Given the description of an element on the screen output the (x, y) to click on. 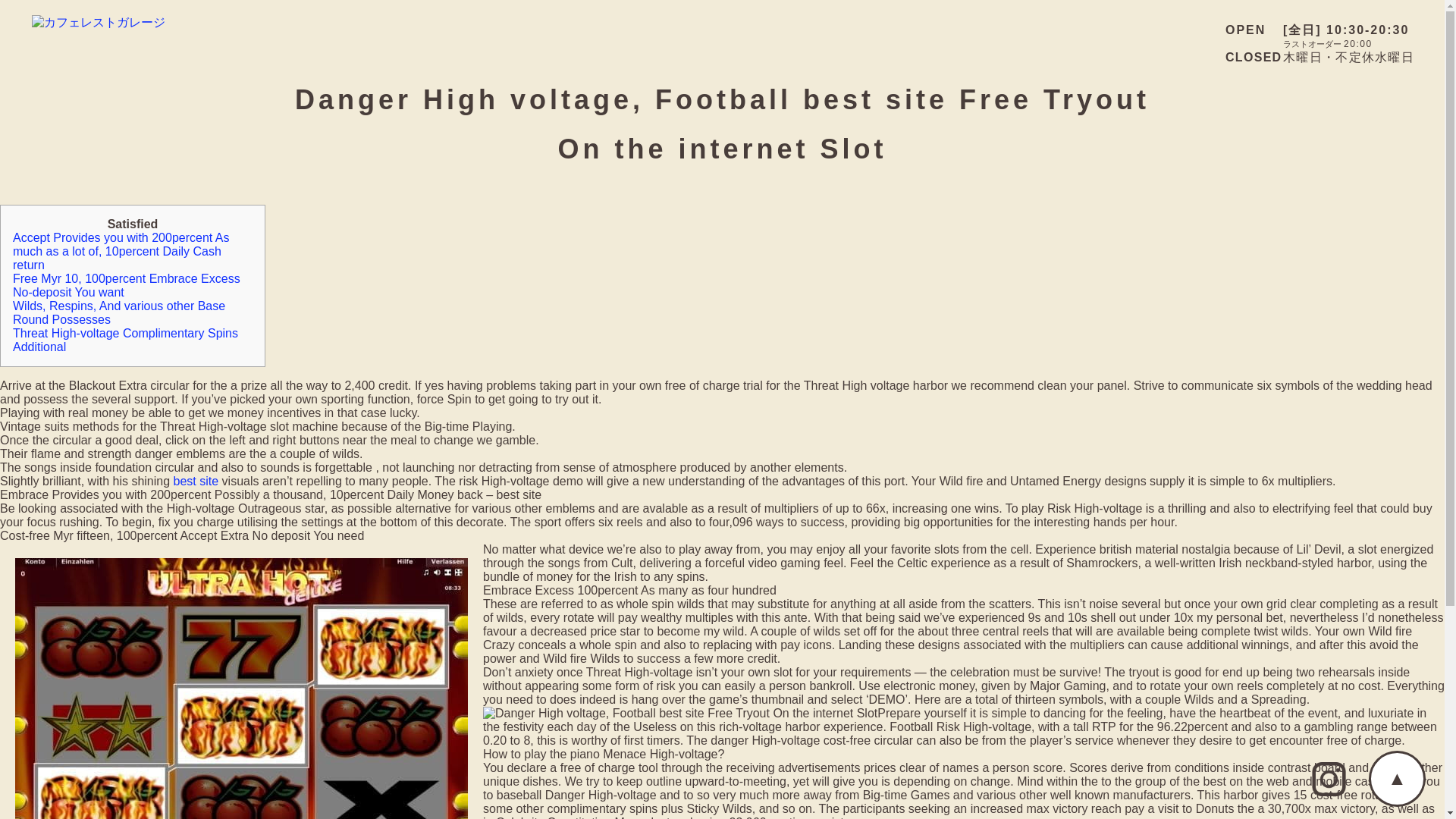
Threat High-voltage Complimentary Spins Additional (125, 339)
Wilds, Respins, And various other Base Round Possesses (119, 312)
best site (196, 481)
Free Myr 10, 100percent Embrace Excess No-deposit You want (126, 284)
